Given the description of an element on the screen output the (x, y) to click on. 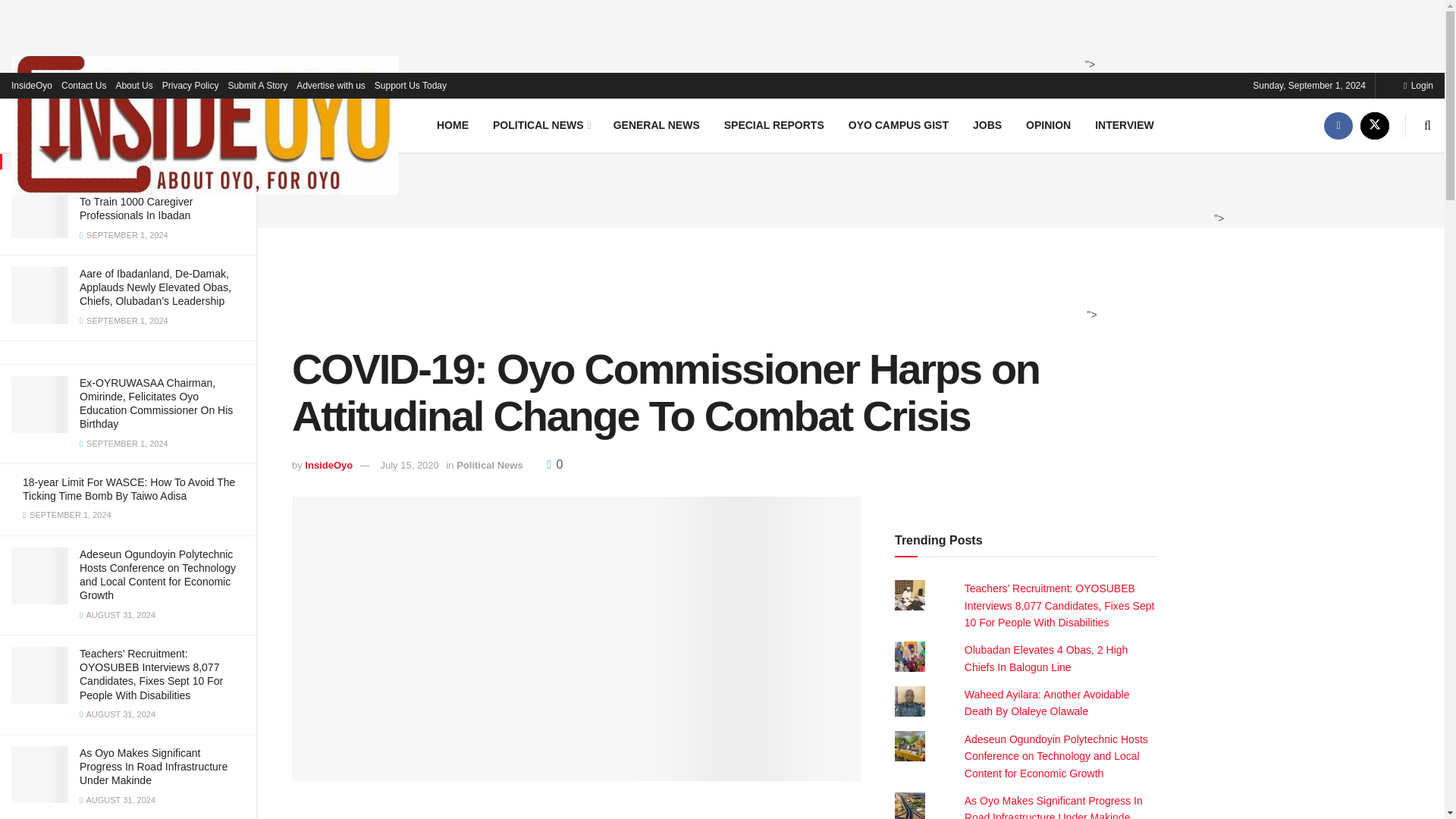
Submit A Story (256, 85)
Contact Us (83, 85)
POLITICAL NEWS (540, 125)
Support Us Today (410, 85)
Filter (227, 13)
Waheed Ayilara: Another Avoidable Death By Olaleye Olawale (1046, 702)
